Given the description of an element on the screen output the (x, y) to click on. 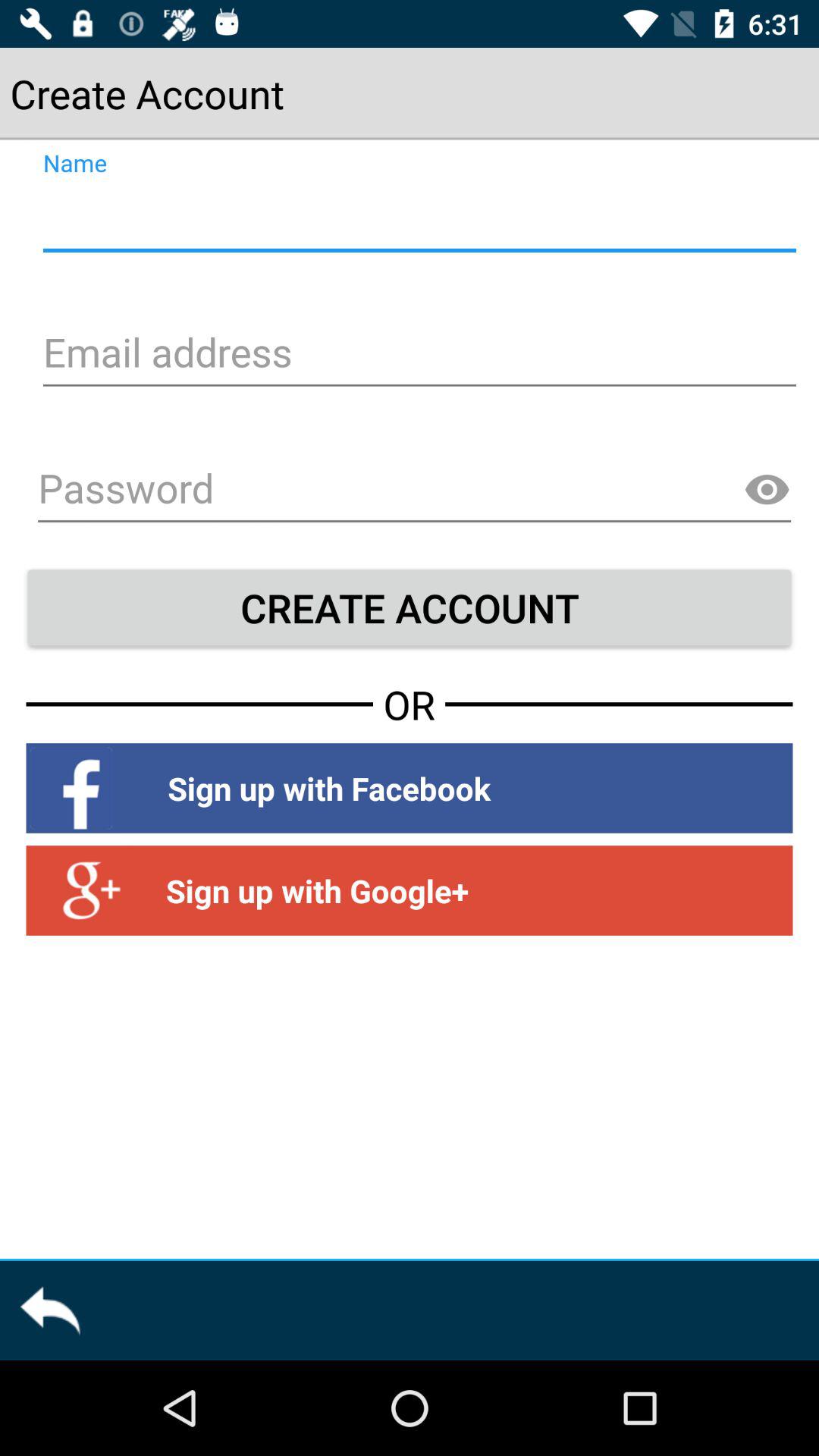
enter name (417, 218)
